Given the description of an element on the screen output the (x, y) to click on. 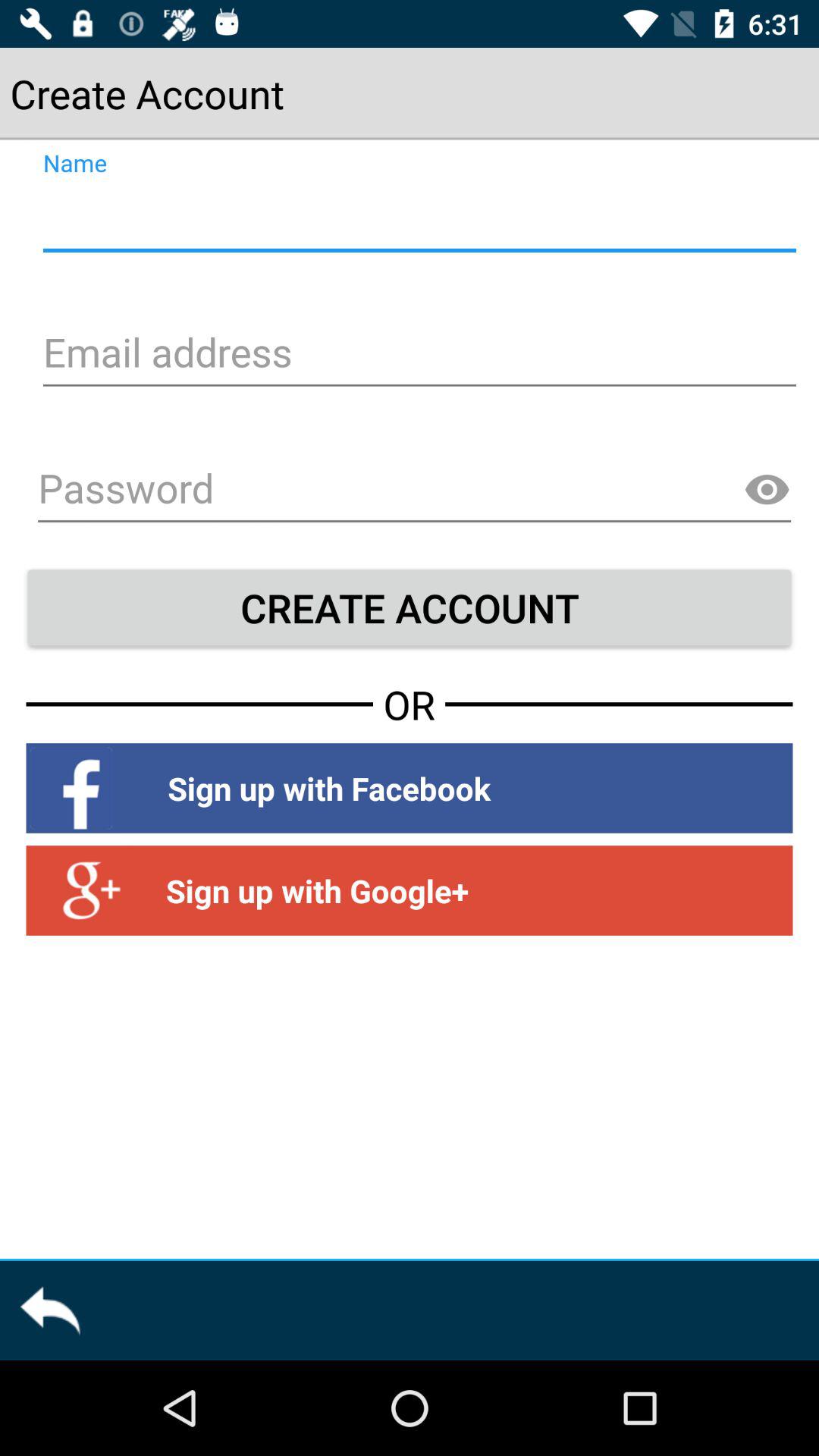
enter name (417, 218)
